Given the description of an element on the screen output the (x, y) to click on. 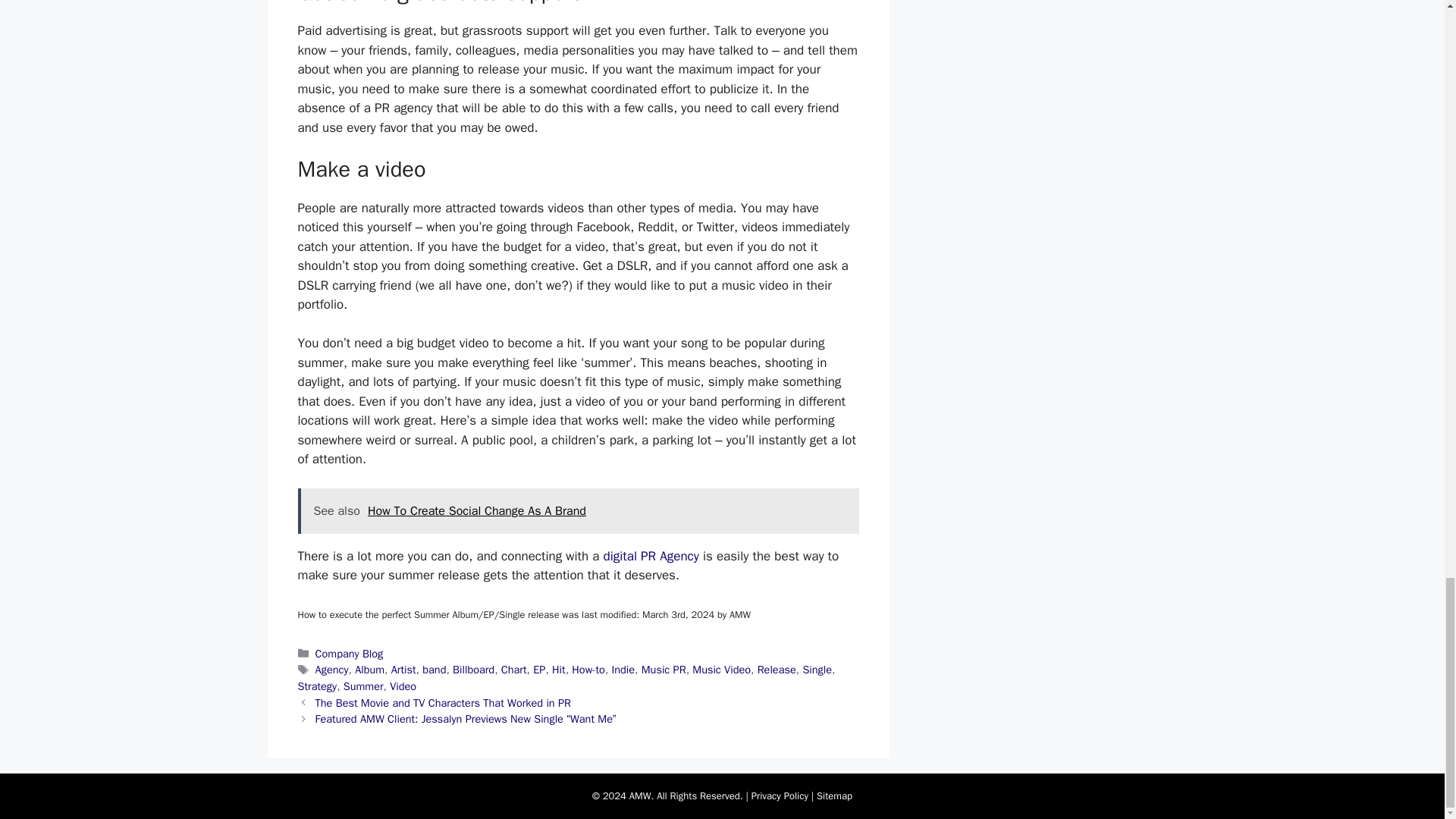
Music Video (722, 669)
The Best Movie and TV Characters That Worked in PR (442, 703)
Video (403, 685)
Hit (558, 669)
Billboard (473, 669)
Release (776, 669)
How-to (588, 669)
Album (369, 669)
Agency (332, 669)
Single (816, 669)
digital PR Agency (651, 555)
Strategy (316, 685)
band (433, 669)
Chart (513, 669)
Music PR (663, 669)
